Given the description of an element on the screen output the (x, y) to click on. 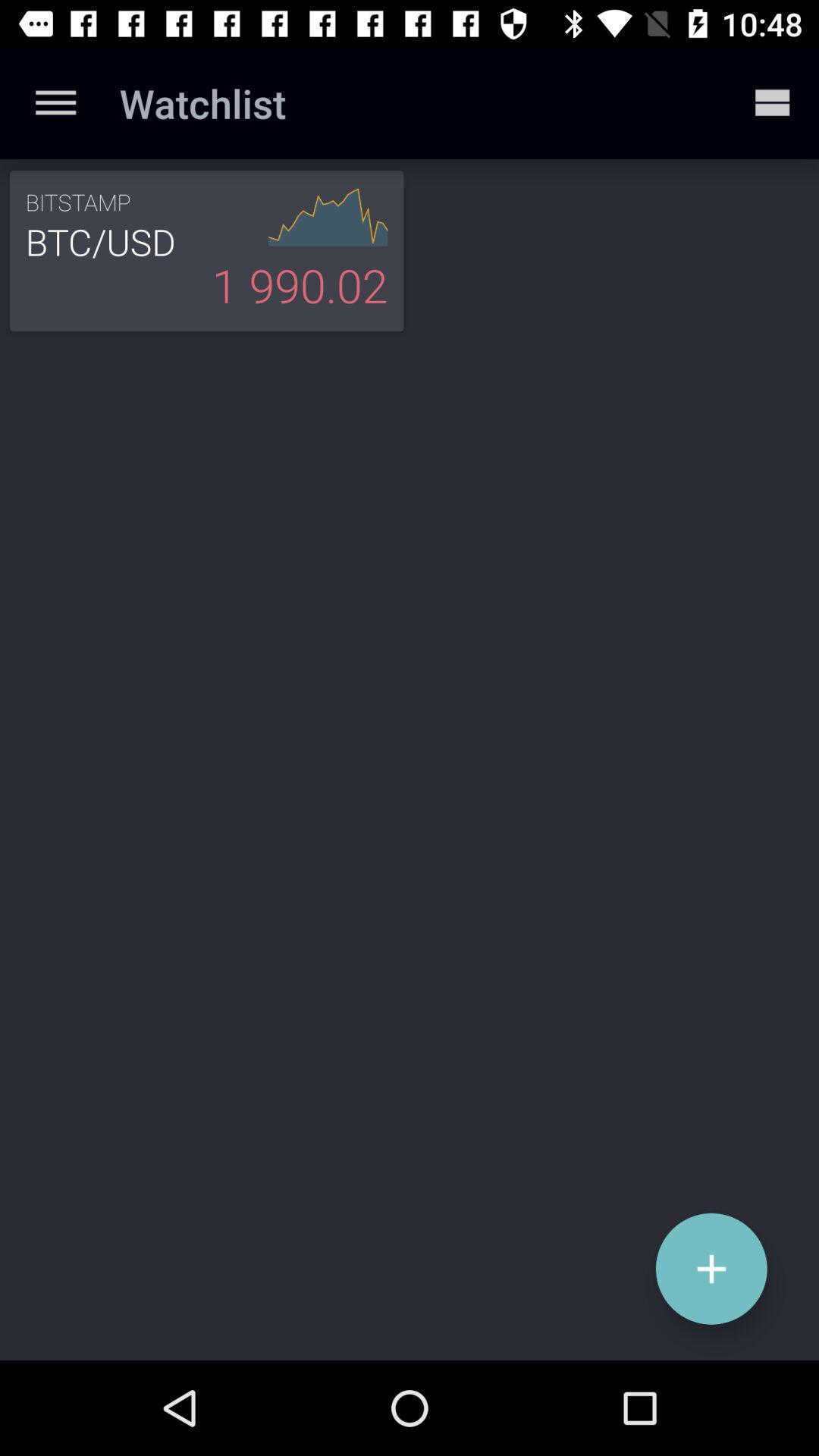
click item next to the watchlist (55, 103)
